Given the description of an element on the screen output the (x, y) to click on. 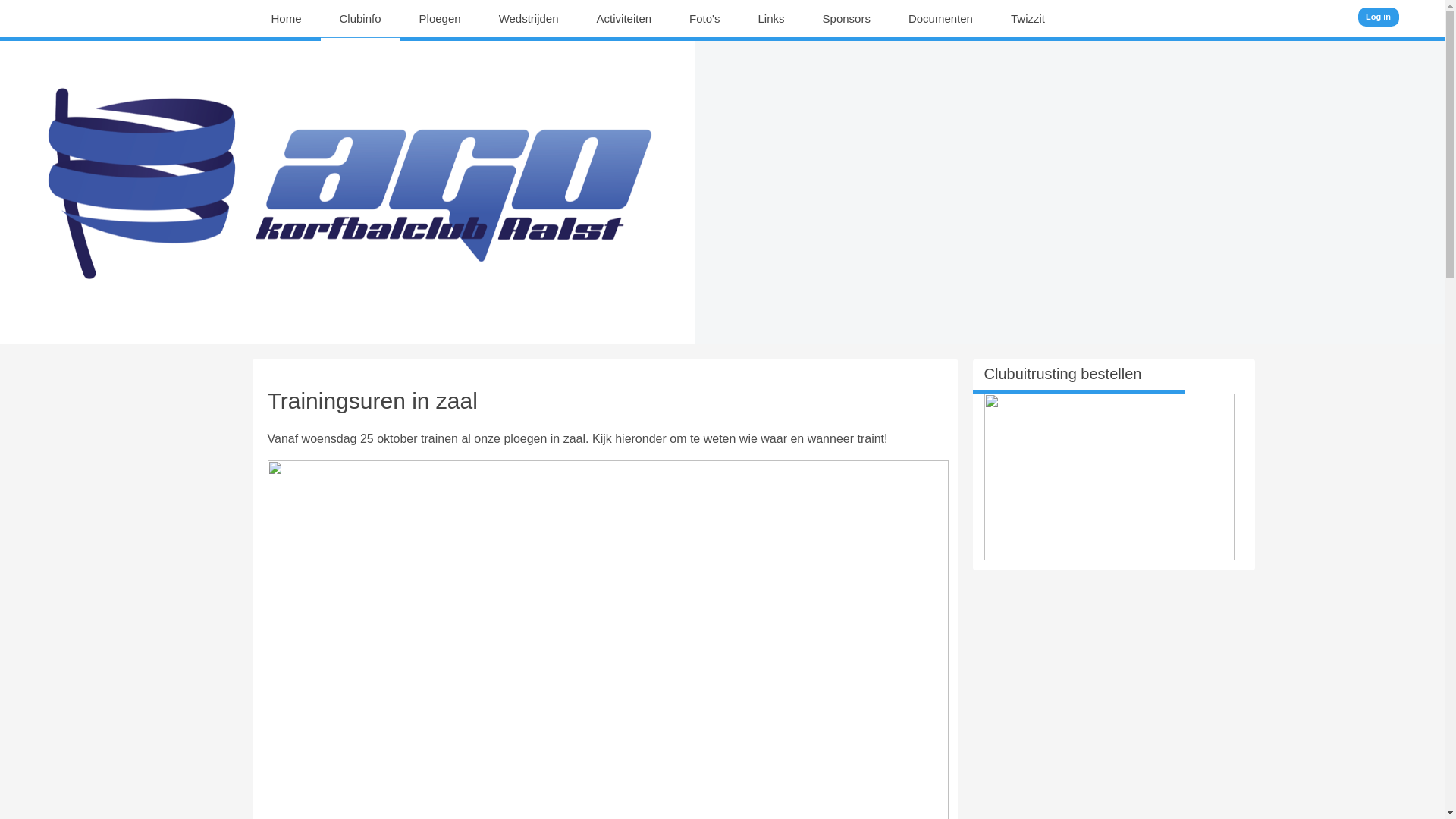
Clubinfo Element type: text (360, 18)
Twizzit Element type: text (1027, 18)
Documenten Element type: text (940, 18)
Trainingsuren in zaal Element type: text (371, 400)
Sponsors Element type: text (846, 18)
Foto's Element type: text (704, 18)
Links Element type: text (771, 18)
Wedstrijden Element type: text (528, 18)
Home Element type: text (286, 18)
Log in Element type: text (1378, 16)
Ploegen Element type: text (440, 18)
Activiteiten Element type: text (624, 18)
